Given the description of an element on the screen output the (x, y) to click on. 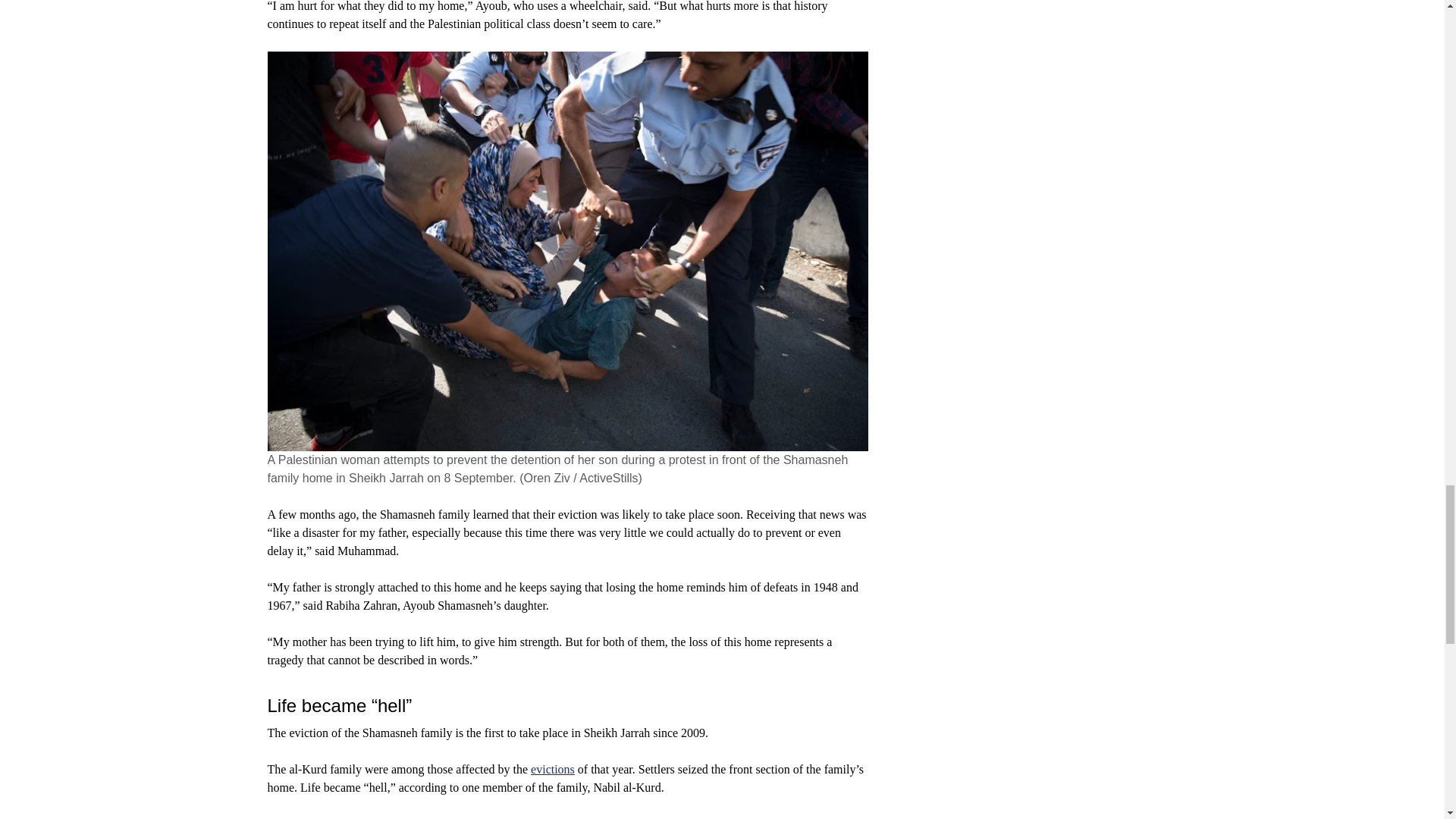
Haifa (756, 818)
evictions (553, 768)
